Given the description of an element on the screen output the (x, y) to click on. 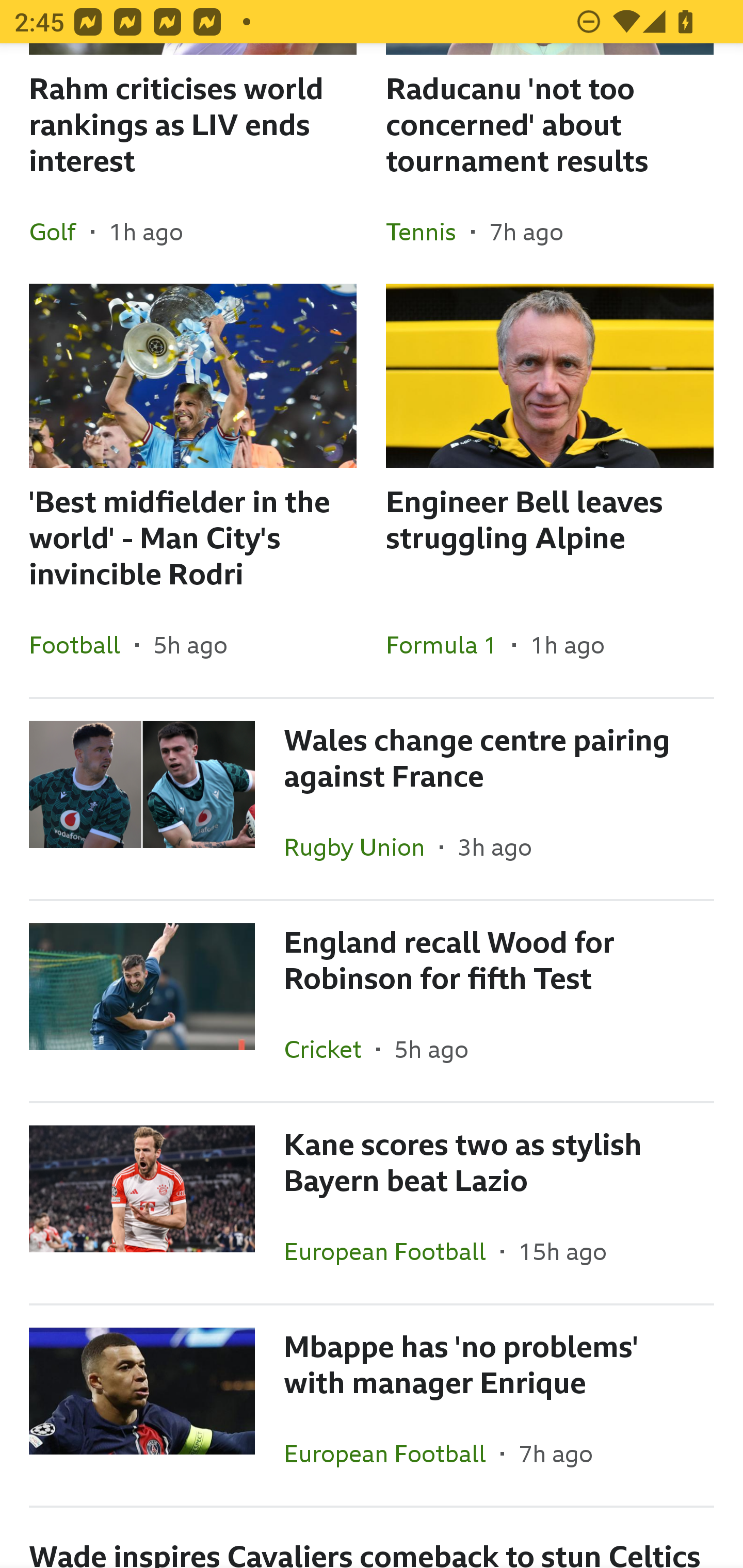
Golf In the section Golf (59, 230)
Tennis In the section Tennis (428, 230)
Football In the section Football (81, 644)
Formula 1 In the section Formula 1 (448, 644)
Rugby Union In the section Rugby Union (361, 846)
Cricket In the section Cricket (329, 1048)
European Football In the section European Football (391, 1251)
European Football In the section European Football (391, 1453)
